Given the description of an element on the screen output the (x, y) to click on. 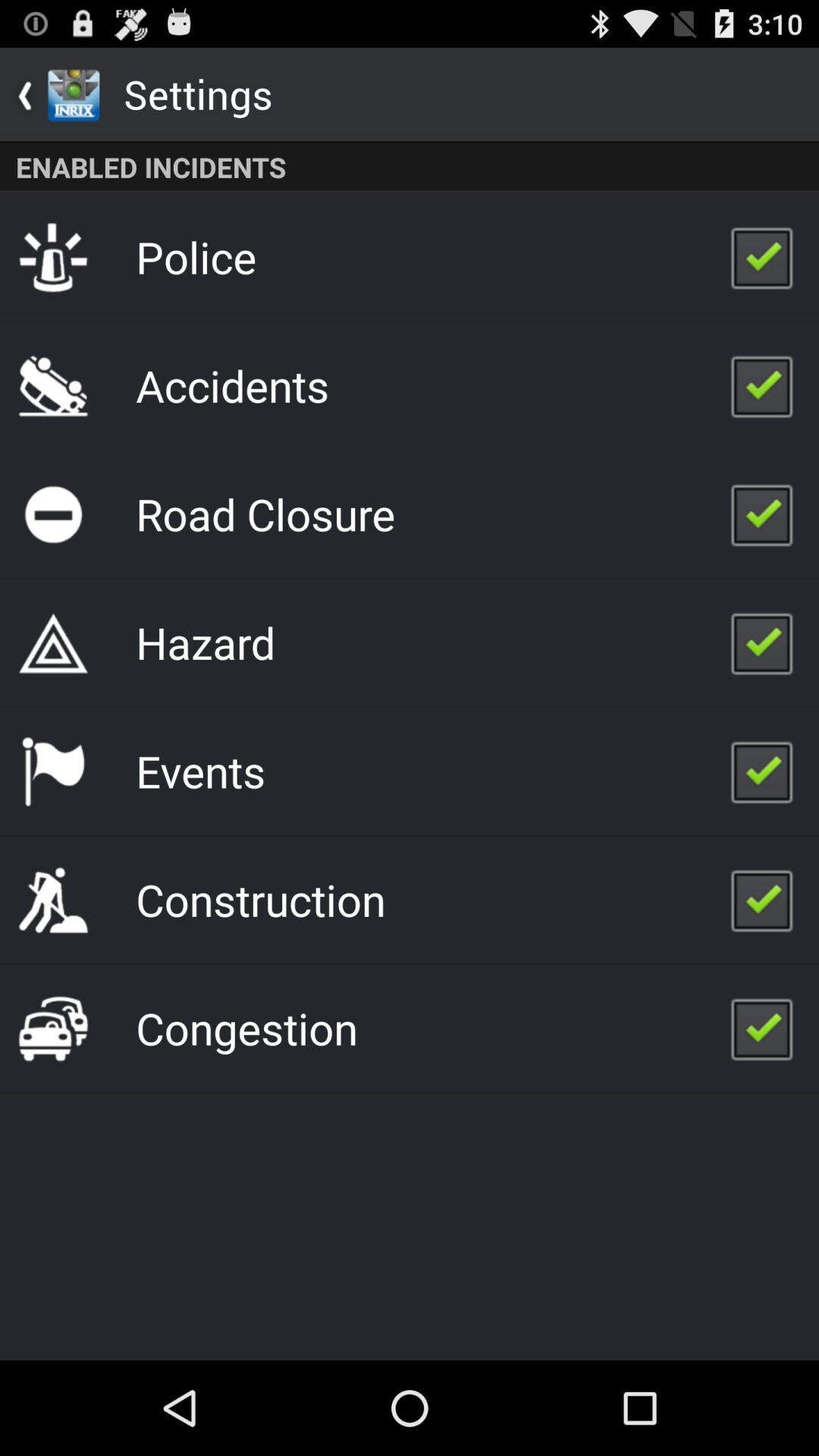
press the item above road closure (232, 385)
